Given the description of an element on the screen output the (x, y) to click on. 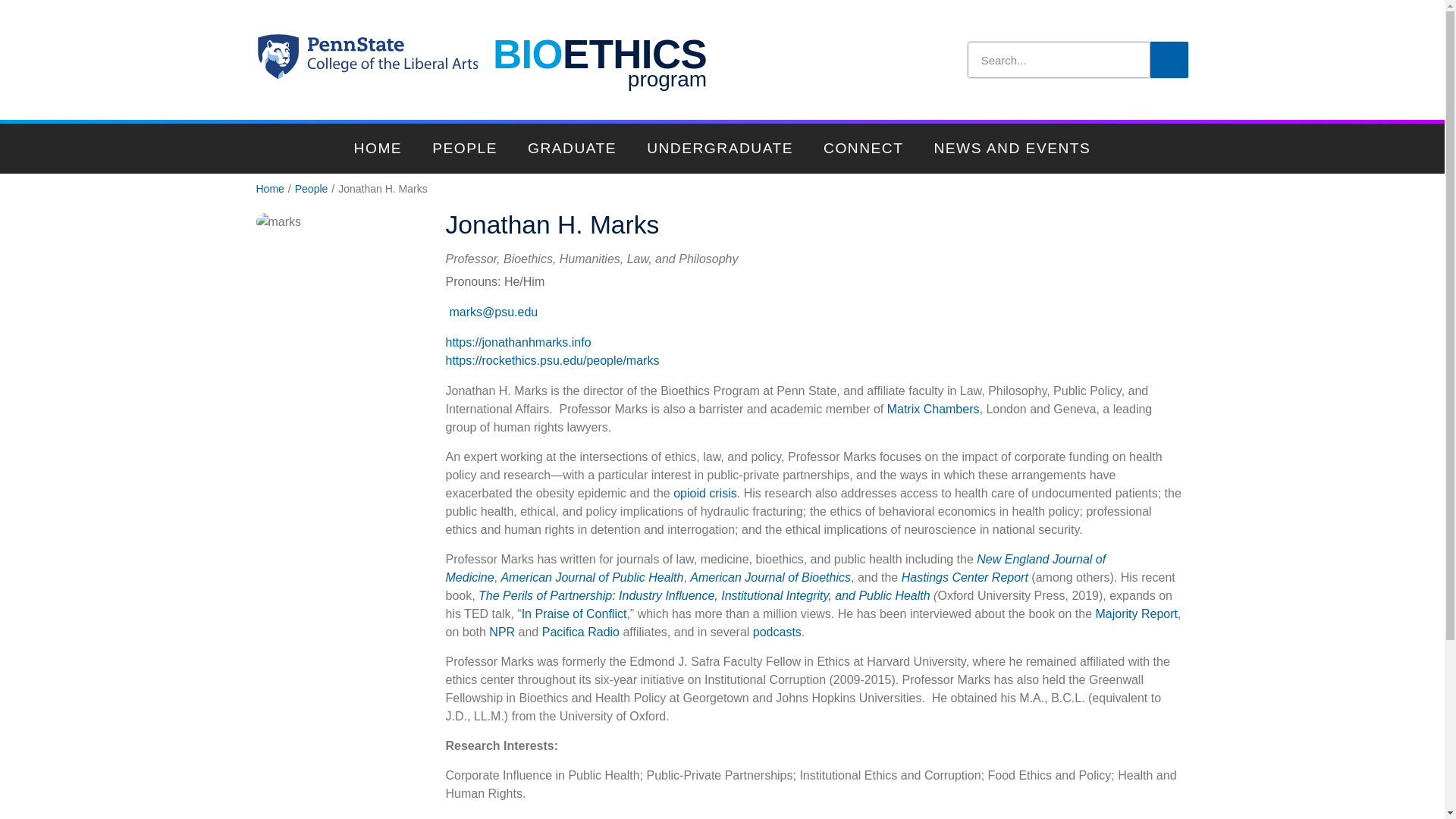
Hastings Center Report (964, 576)
marks (278, 221)
In Praise of Conflict (574, 613)
NEWS AND EVENTS (1011, 148)
People (312, 188)
New England Journal of Medicine (775, 567)
PEOPLE (464, 148)
opioid crisis (704, 492)
Majority Report (1136, 613)
podcasts (777, 631)
Matrix Chambers (932, 408)
UNDERGRADUATE (719, 148)
NPR (599, 59)
American Journal of Bioethics (502, 631)
